Given the description of an element on the screen output the (x, y) to click on. 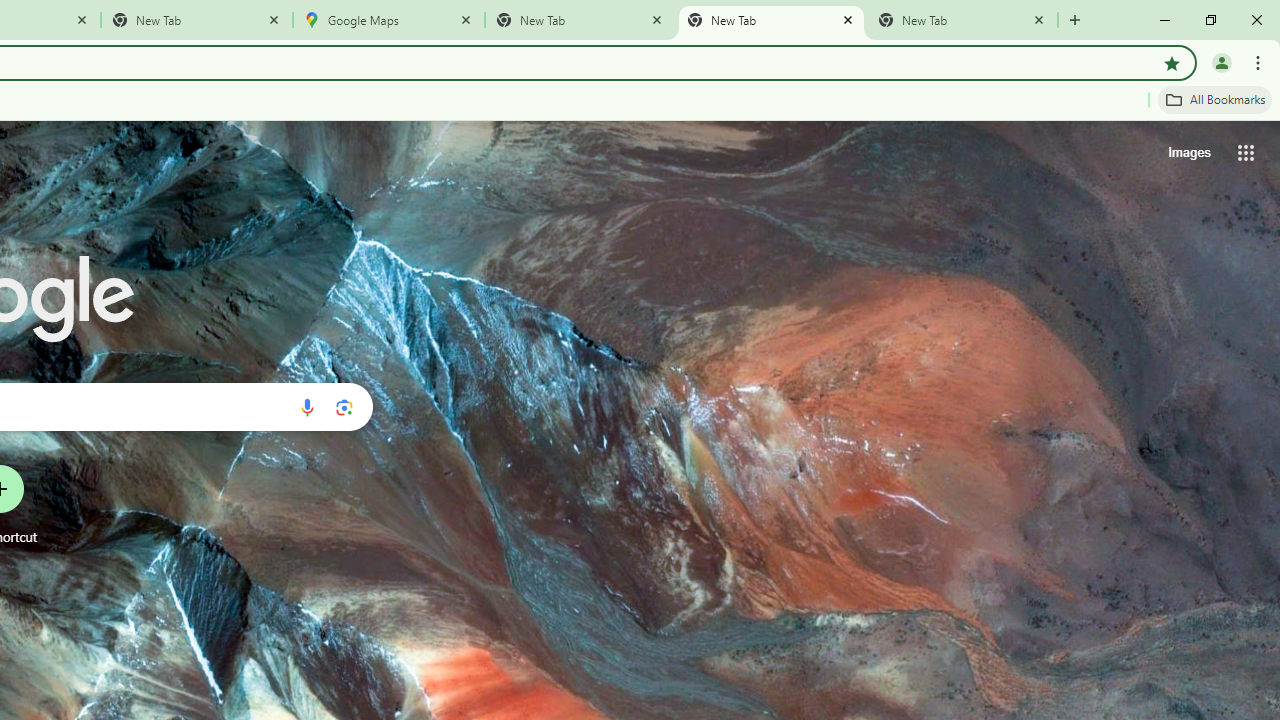
Google Maps (389, 20)
